Given the description of an element on the screen output the (x, y) to click on. 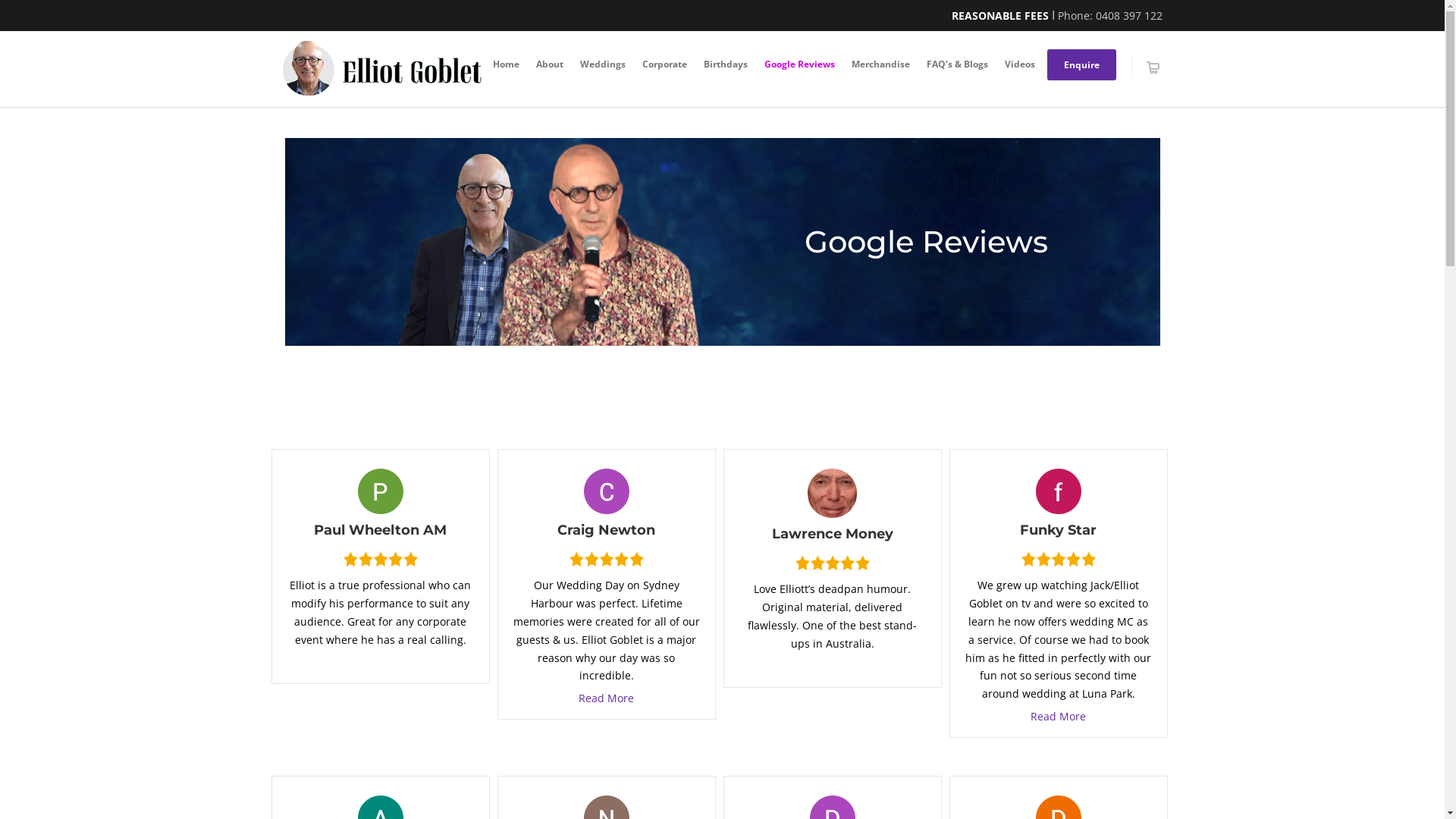
Videos Element type: text (1019, 63)
3-31594_five-stars-png(1) Element type: hover (1058, 558)
Weddings Element type: text (602, 63)
unnamed Element type: hover (1058, 491)
Read More Element type: text (1057, 716)
3-31594_five-stars-png(1) Element type: hover (606, 558)
3-31594_five-stars-png(1) Element type: hover (832, 562)
Read More Element type: text (605, 697)
Corporate Element type: text (664, 63)
unnamed-c Element type: hover (606, 491)
3-31594_five-stars-png(1) Element type: hover (380, 558)
Enquire Element type: text (1080, 64)
About Element type: text (549, 63)
Home Element type: text (505, 63)
Merchandise Element type: text (880, 63)
Birthdays Element type: text (724, 63)
Google Reviews Element type: text (798, 63)
Paul-Wheelton-AM Element type: hover (380, 491)
lawrence Money Element type: hover (831, 492)
0408 397 122 Element type: text (1128, 15)
